Given the description of an element on the screen output the (x, y) to click on. 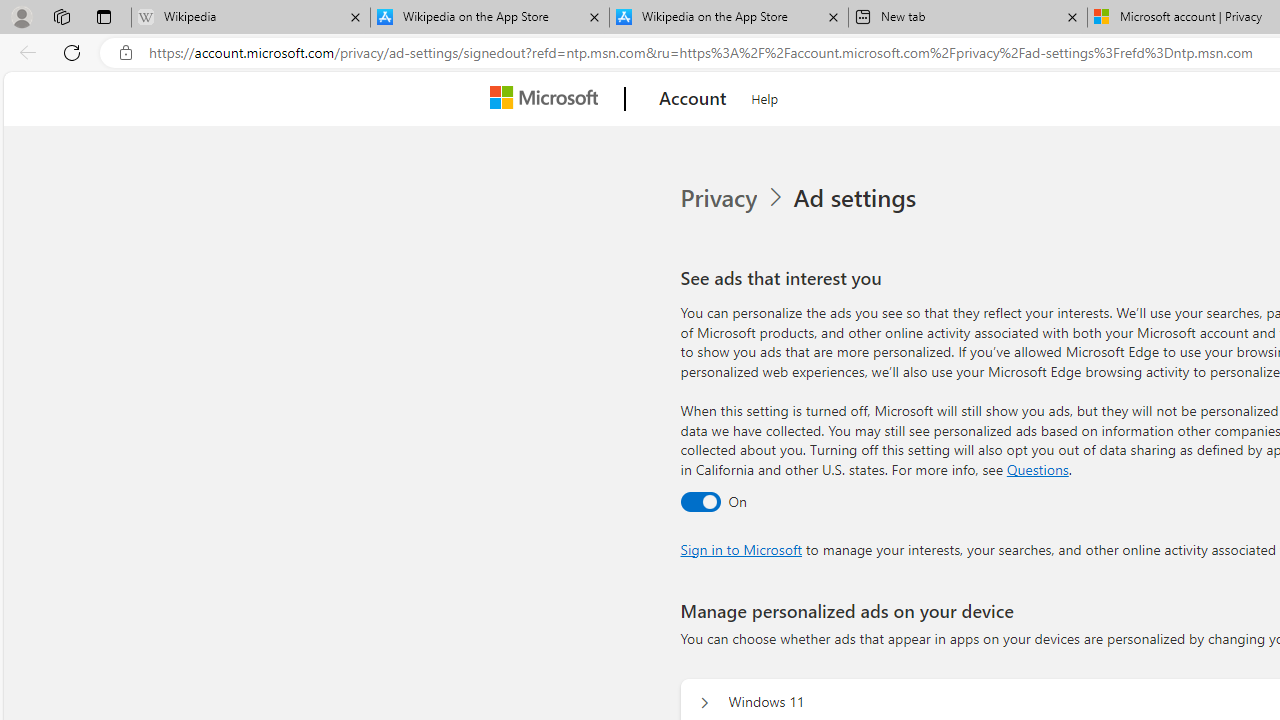
Go to Questions section (1037, 468)
Ad settings (858, 197)
Ad settings toggle (699, 501)
Microsoft (548, 99)
Sign in to Microsoft (740, 548)
Help (765, 96)
